Given the description of an element on the screen output the (x, y) to click on. 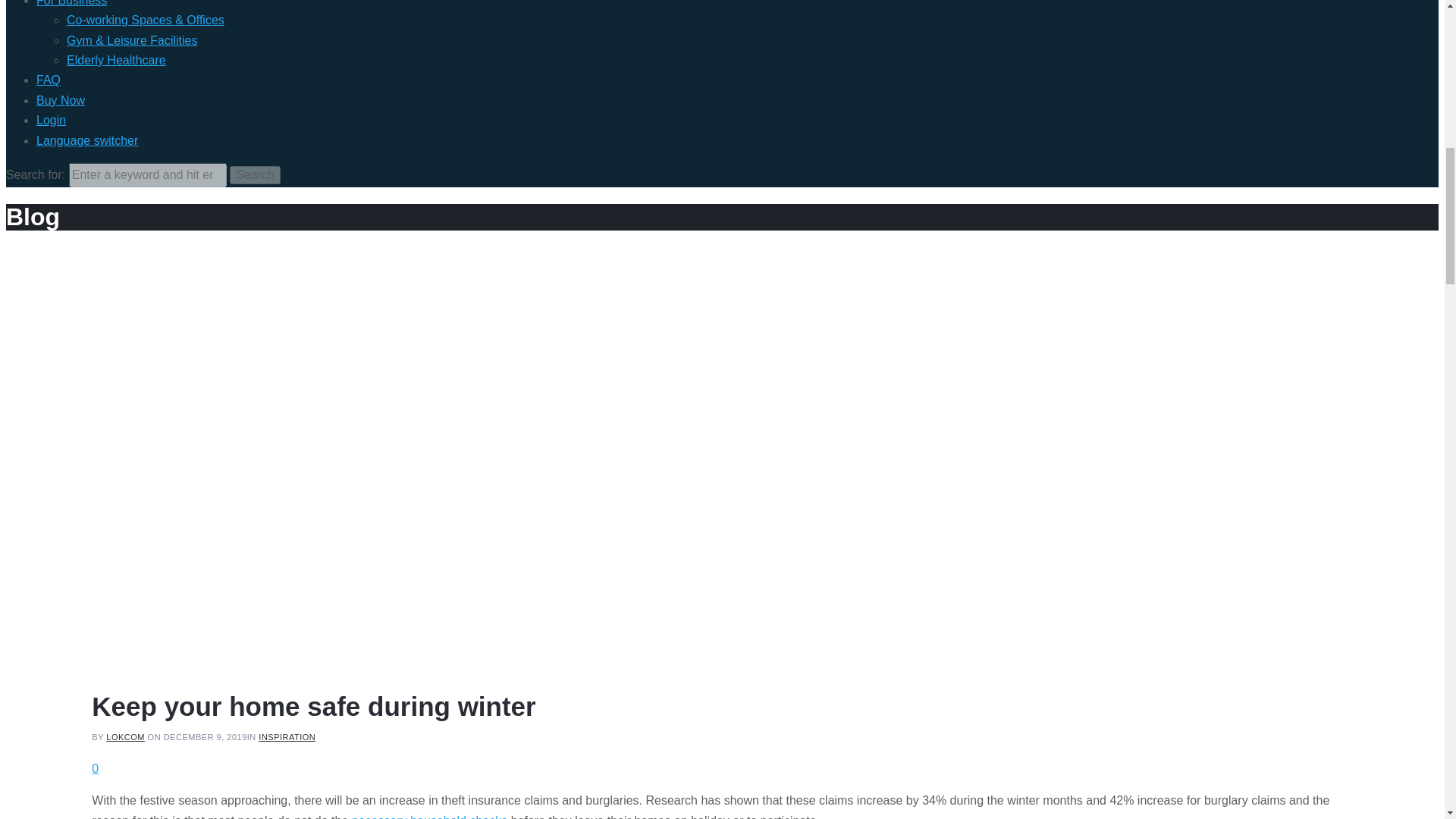
For Business (71, 3)
Posts by Lokcom (125, 737)
Search (255, 175)
Language switcher (87, 140)
Search (255, 175)
Elderly Healthcare (115, 60)
FAQ (48, 79)
Login (50, 119)
LOKCOM (125, 737)
Search (255, 175)
